Given the description of an element on the screen output the (x, y) to click on. 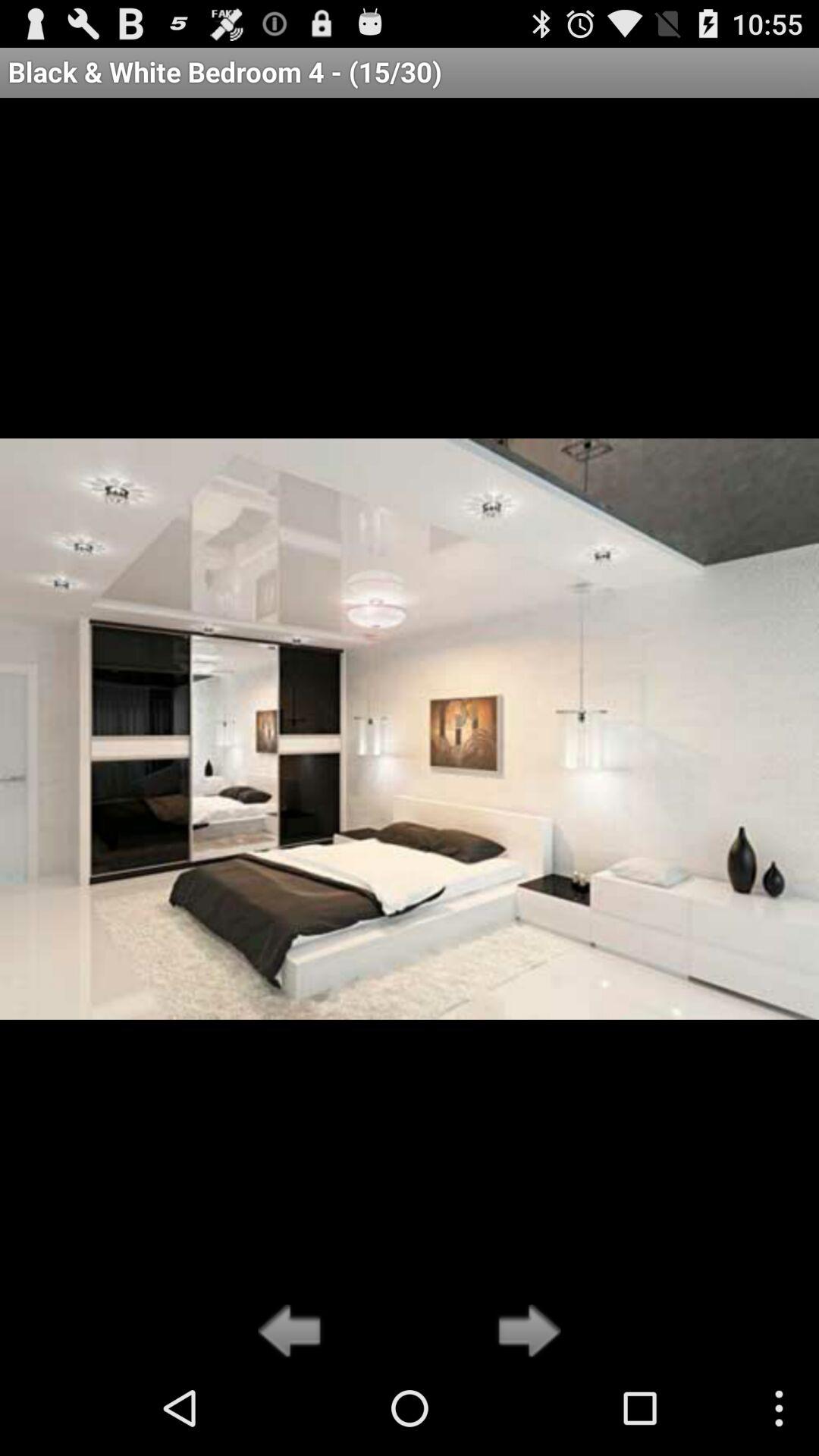
go to previous (293, 1332)
